Given the description of an element on the screen output the (x, y) to click on. 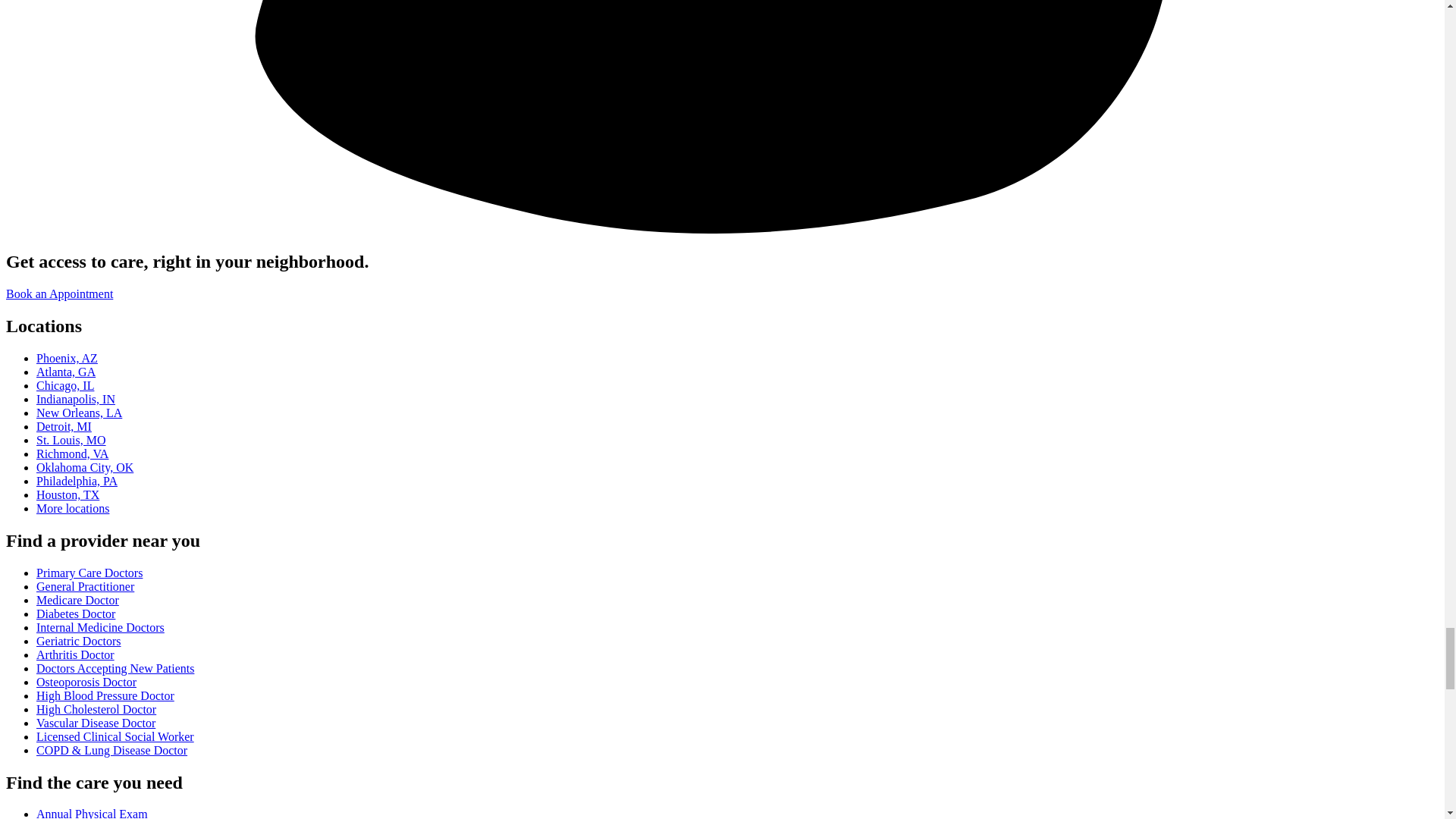
Book an Appointment (59, 293)
